Given the description of an element on the screen output the (x, y) to click on. 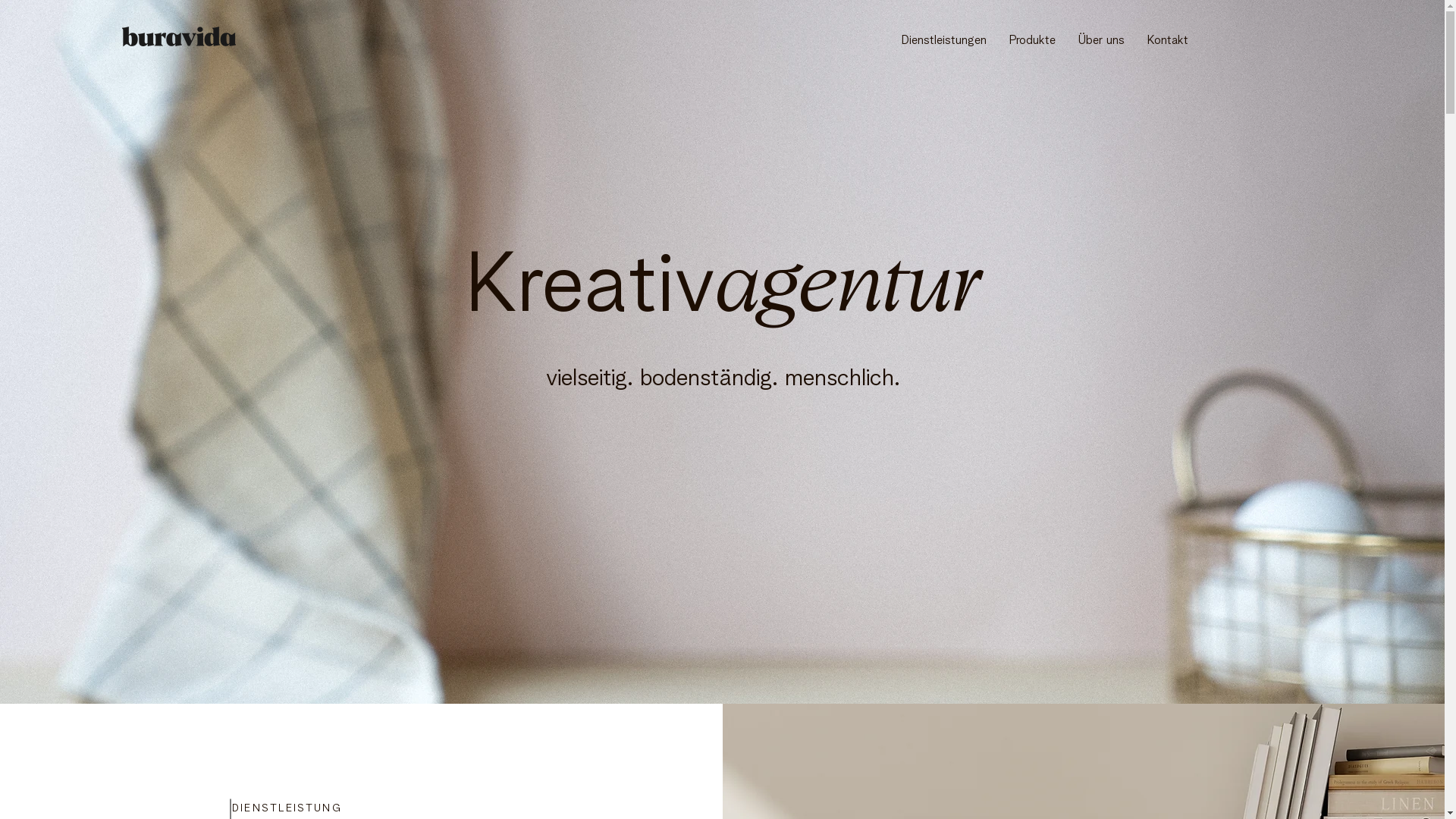
Produkte Element type: text (1031, 40)
Kontakt Element type: text (1167, 40)
